Given the description of an element on the screen output the (x, y) to click on. 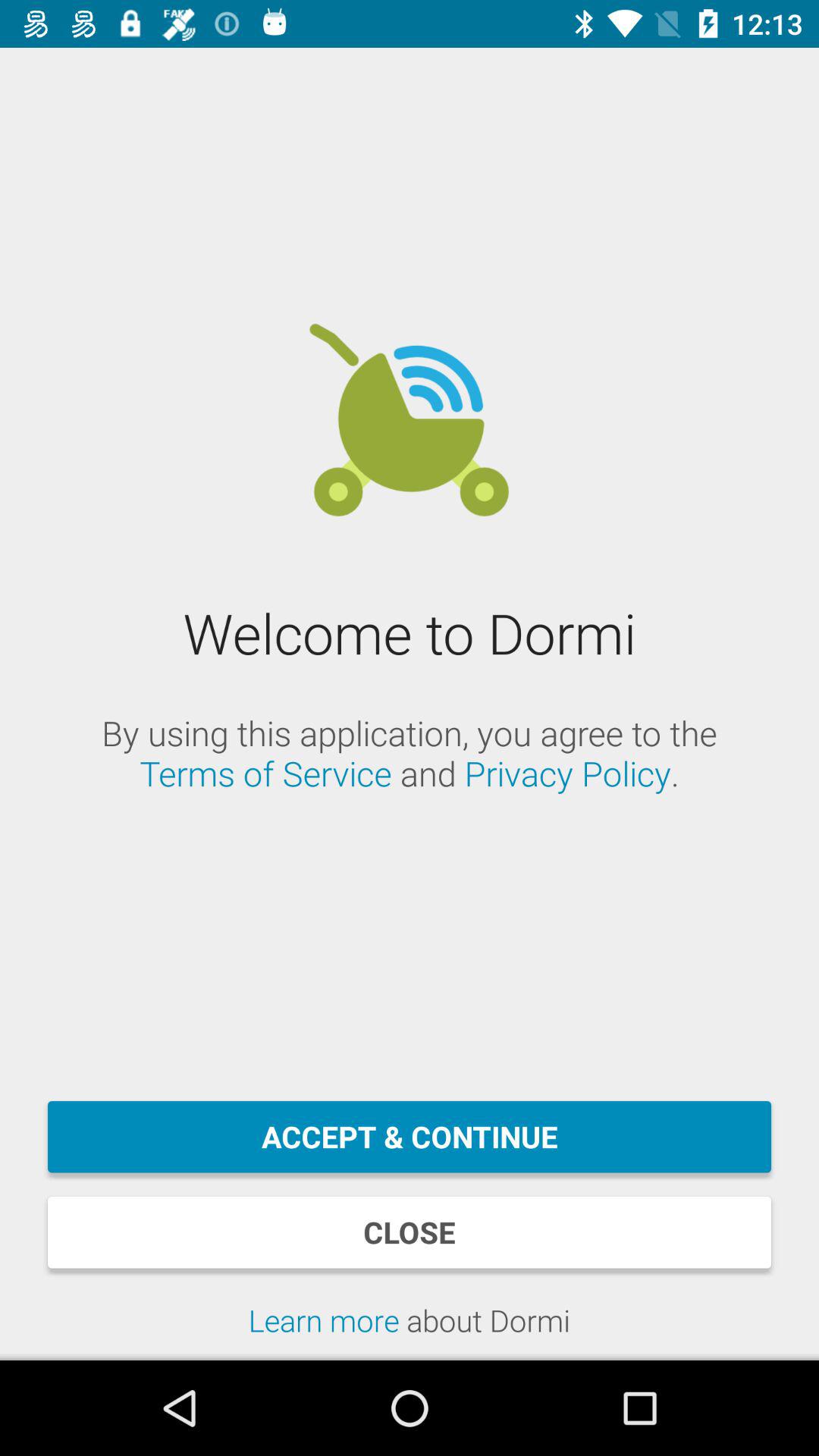
turn on the by using this (409, 752)
